Given the description of an element on the screen output the (x, y) to click on. 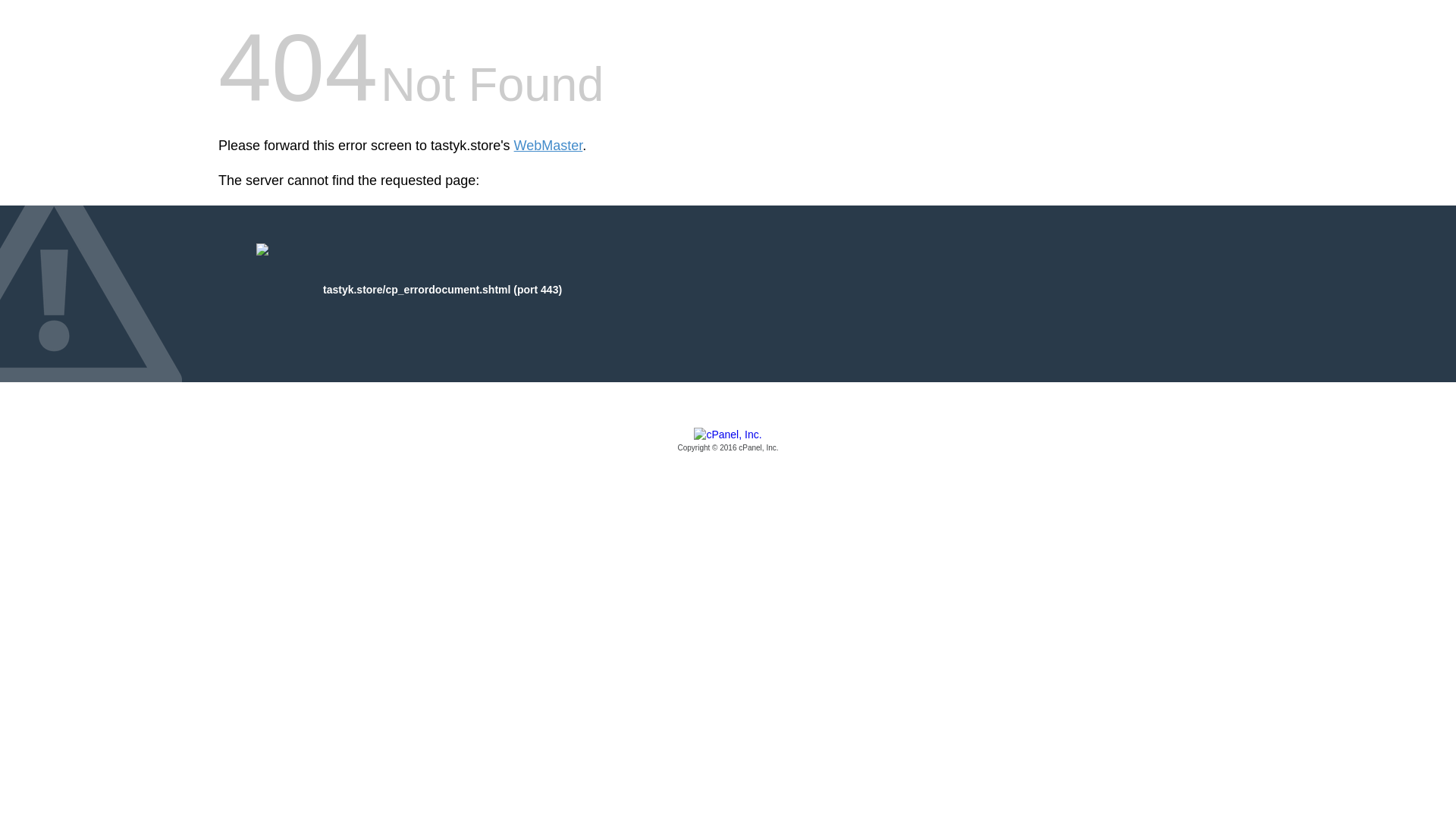
cPanel, Inc. (727, 440)
WebMaster (548, 145)
